Given the description of an element on the screen output the (x, y) to click on. 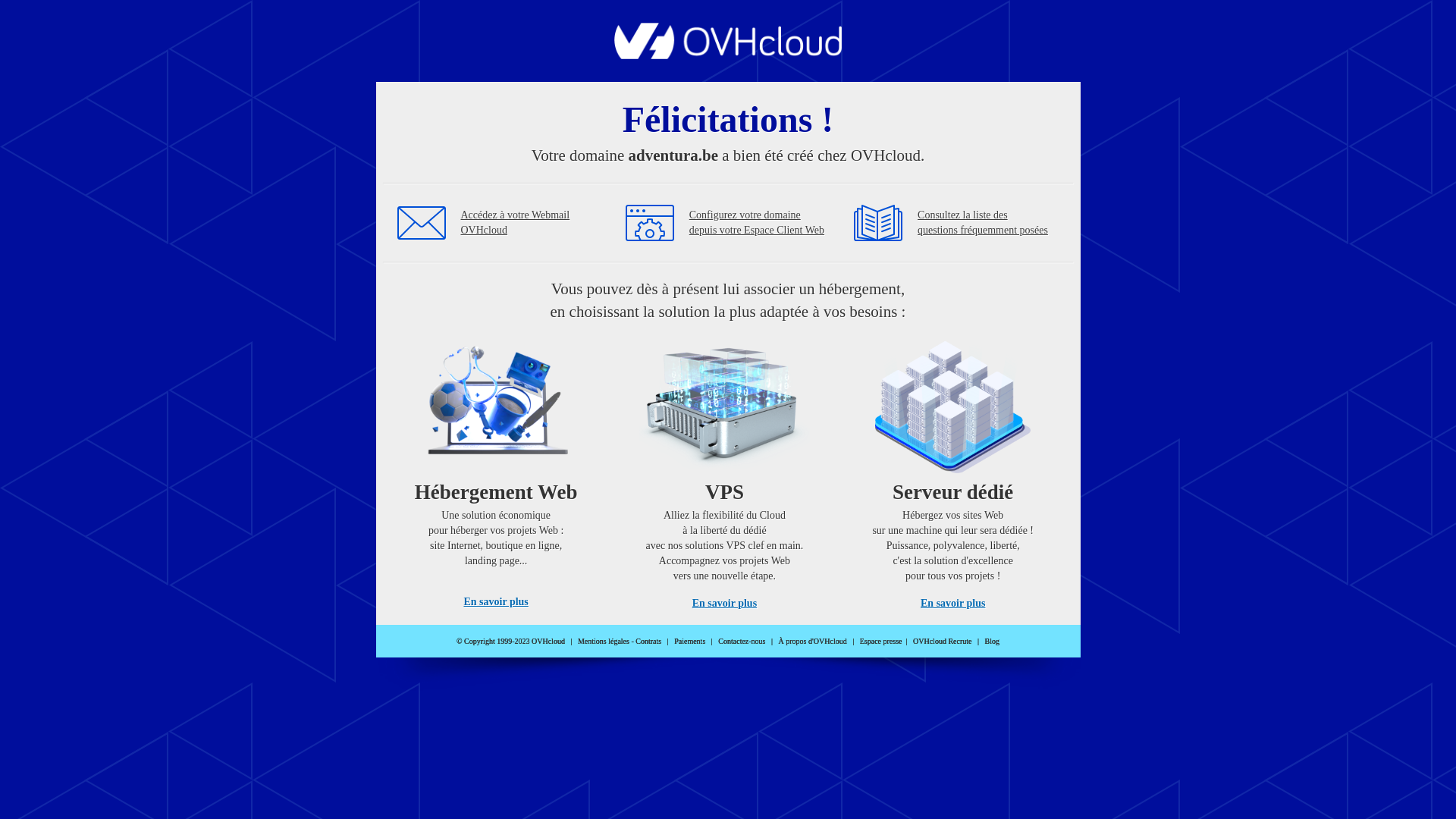
OVHcloud Element type: hover (727, 54)
Paiements Element type: text (689, 641)
En savoir plus Element type: text (724, 602)
Configurez votre domaine
depuis votre Espace Client Web Element type: text (756, 222)
OVHcloud Recrute Element type: text (942, 641)
En savoir plus Element type: text (495, 601)
En savoir plus Element type: text (952, 602)
Contactez-nous Element type: text (741, 641)
Espace presse Element type: text (880, 641)
VPS Element type: hover (724, 469)
Blog Element type: text (992, 641)
